Given the description of an element on the screen output the (x, y) to click on. 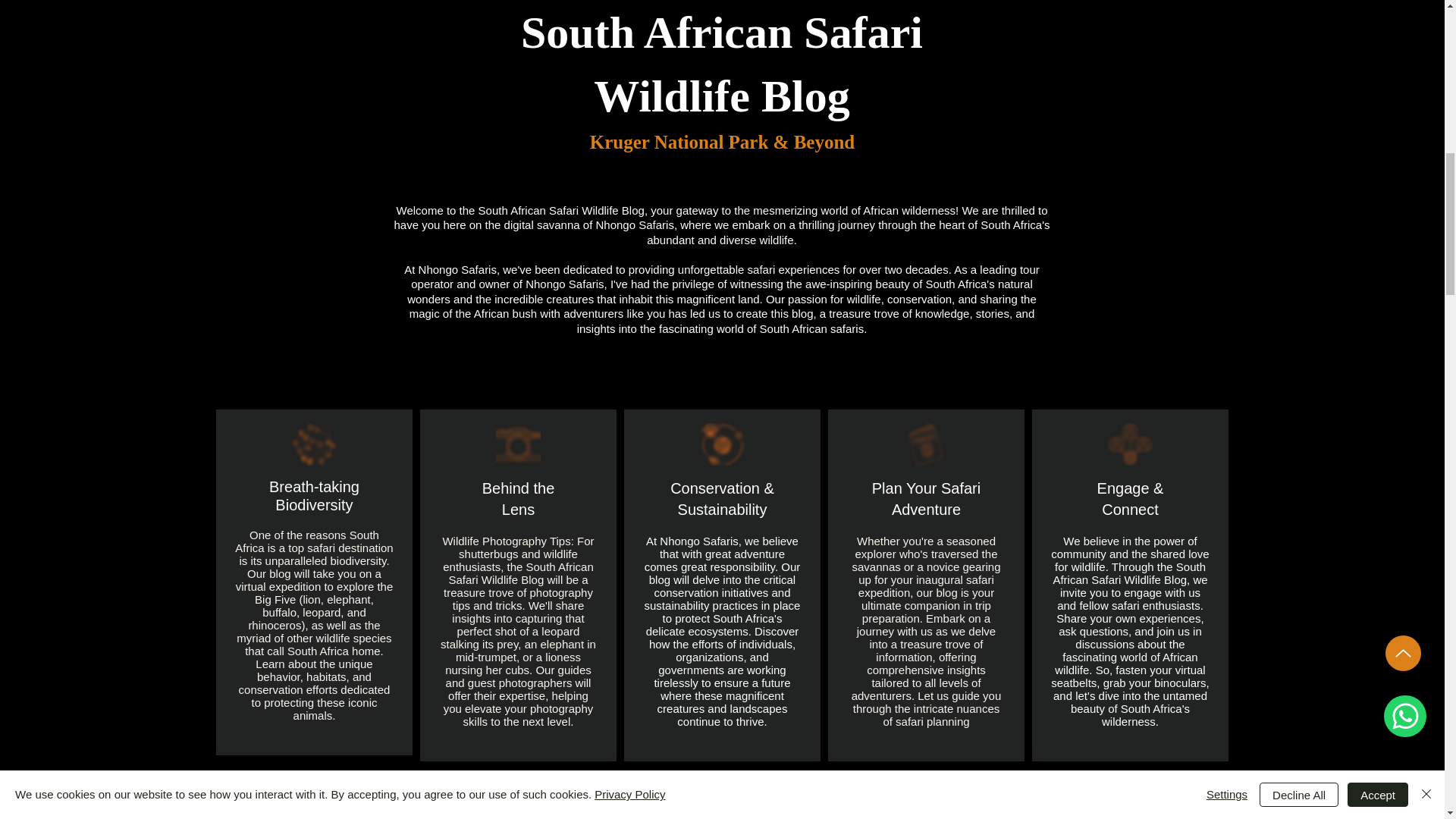
Local Safari Guides Kruger National Park Safaris (1130, 444)
Local Safari Guides Kruger National Park Safaris (518, 444)
Local Safari Guides Kruger National Park Safaris (314, 444)
Local Safari Guides Kruger National Park Safaris (722, 444)
Local Safari Guides Kruger National Park Safaris (926, 444)
